Given the description of an element on the screen output the (x, y) to click on. 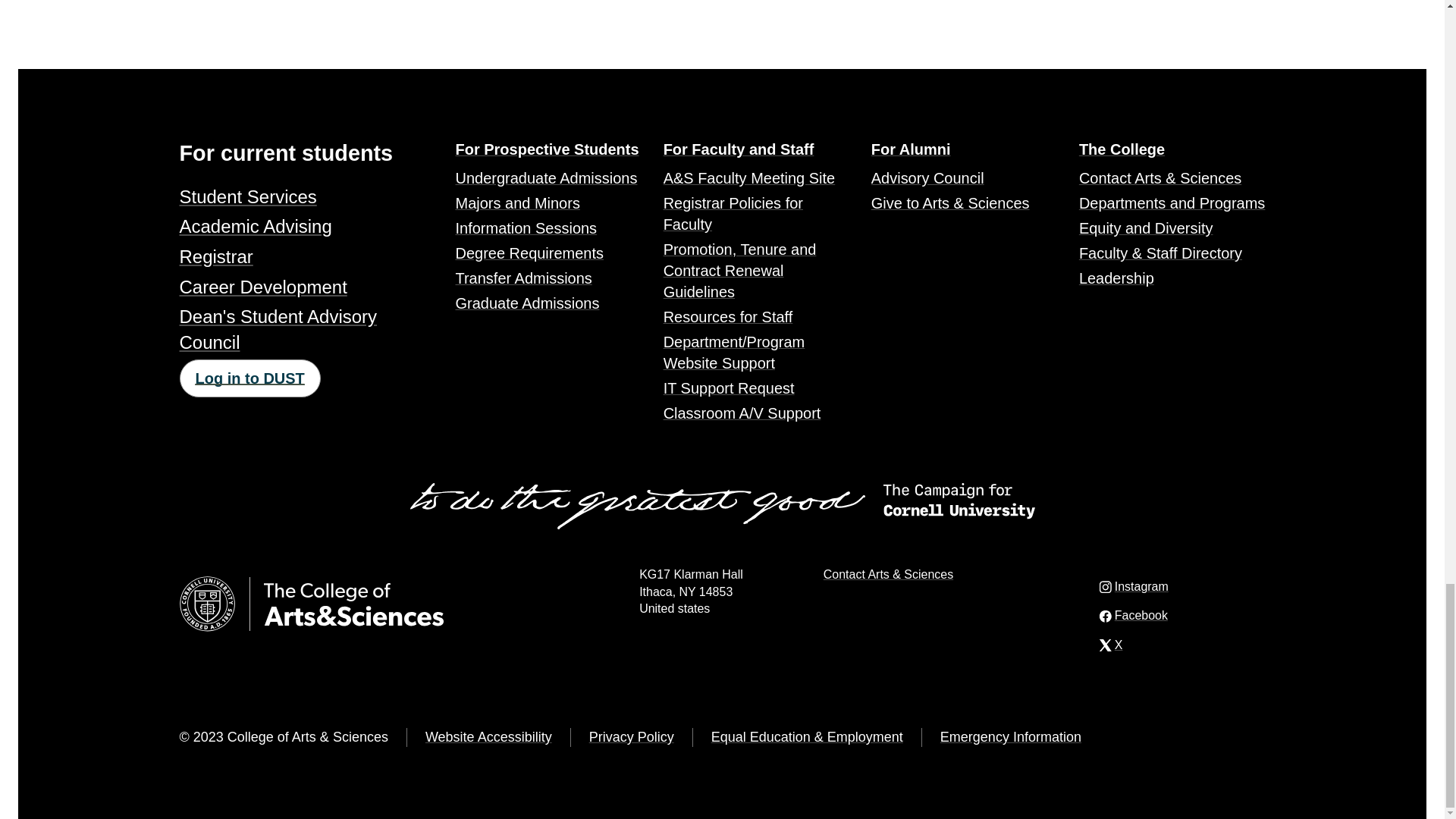
Cornell University (206, 603)
